Given the description of an element on the screen output the (x, y) to click on. 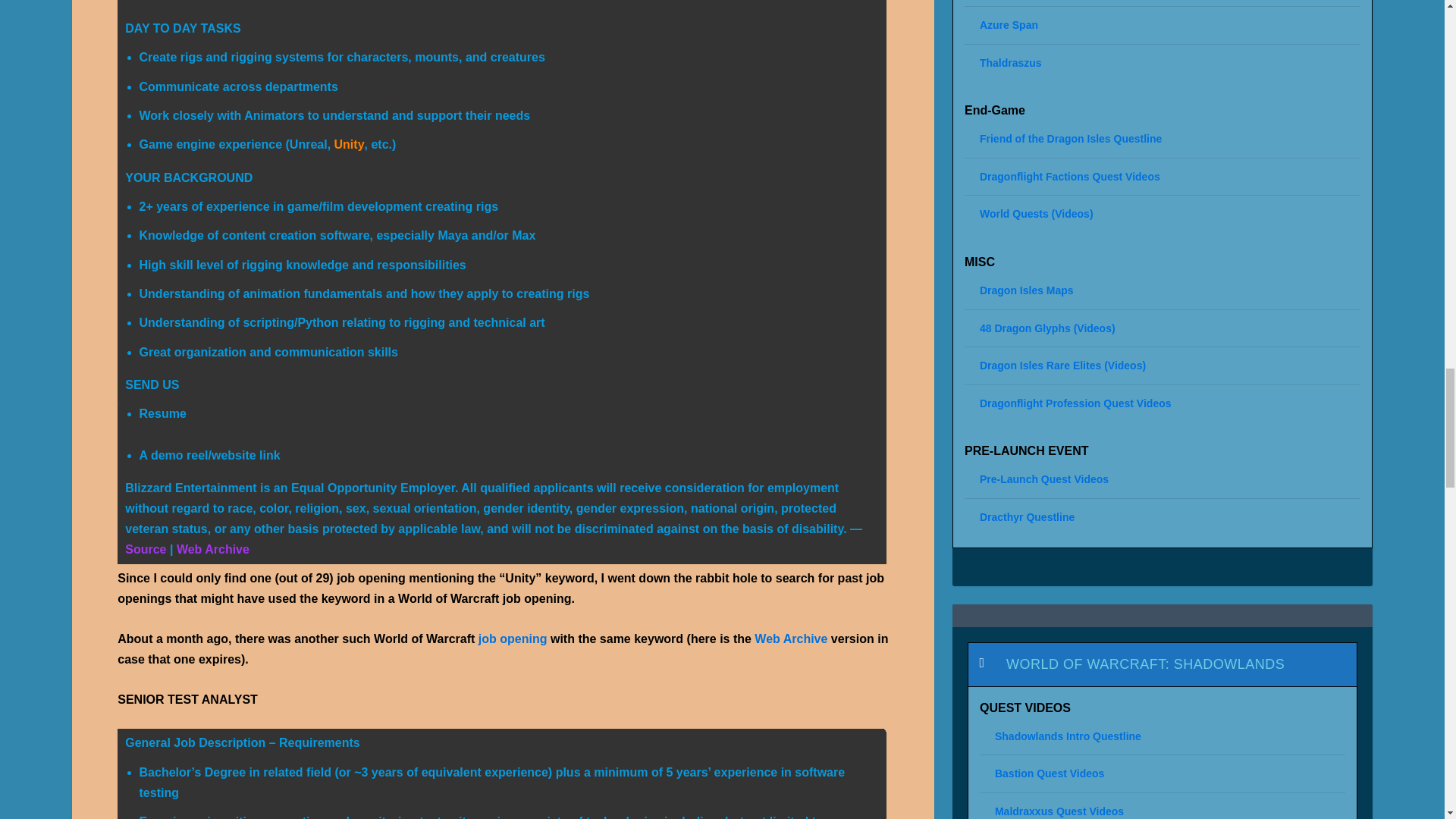
Source (145, 549)
Web Archive (790, 638)
job opening (513, 638)
Web Archive (212, 549)
